Given the description of an element on the screen output the (x, y) to click on. 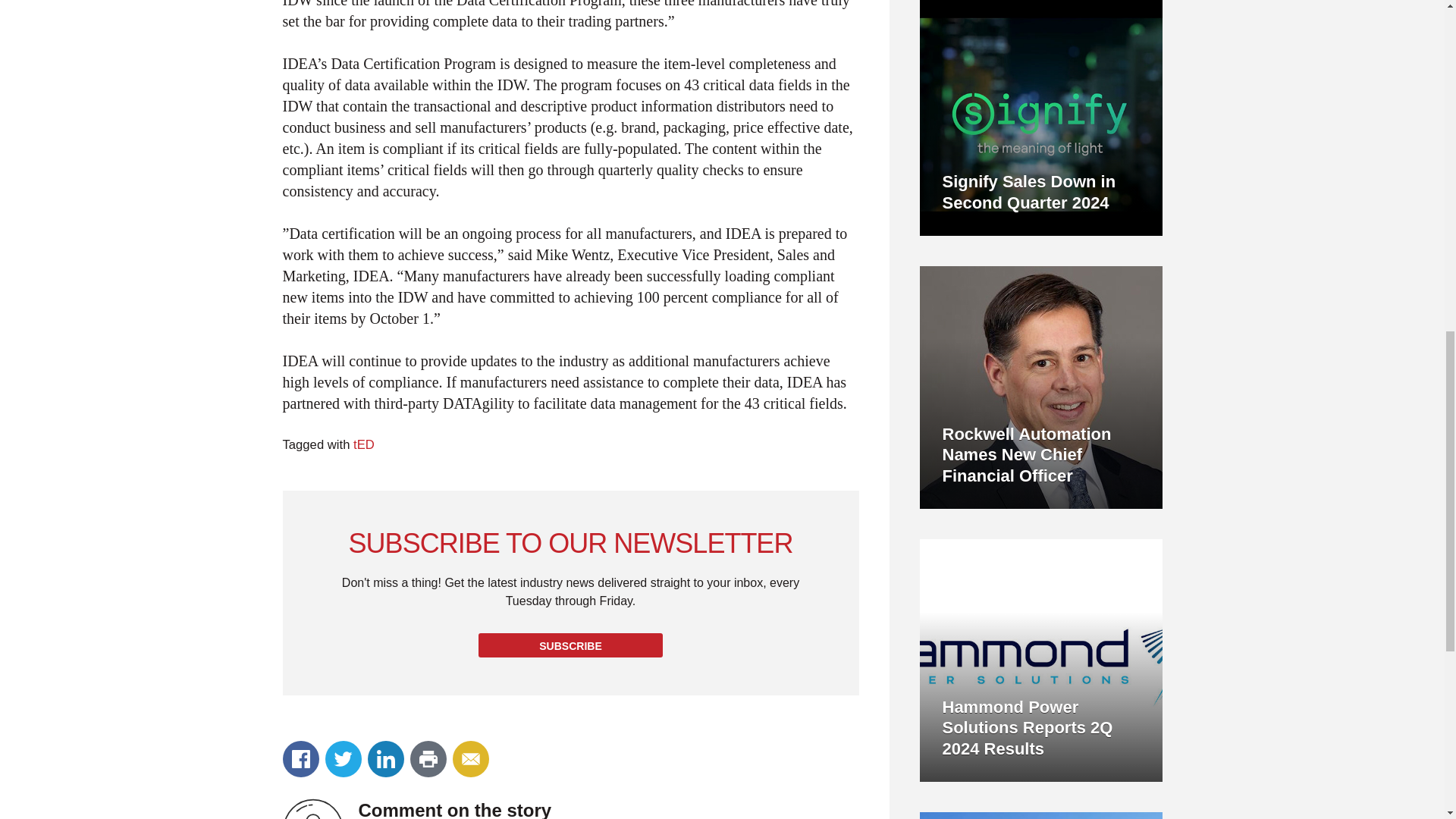
Scroll back to top (461, 27)
